Given the description of an element on the screen output the (x, y) to click on. 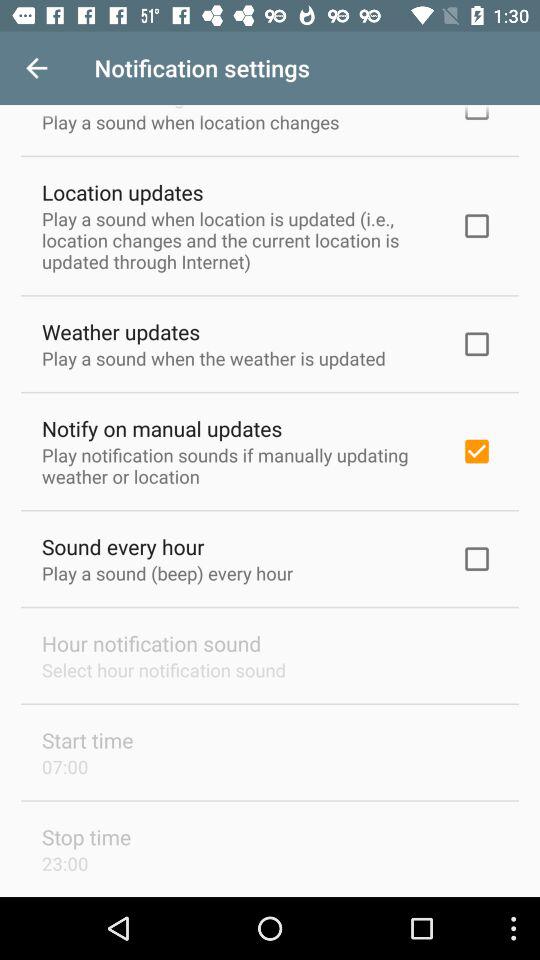
swipe to the weather updates icon (121, 331)
